Given the description of an element on the screen output the (x, y) to click on. 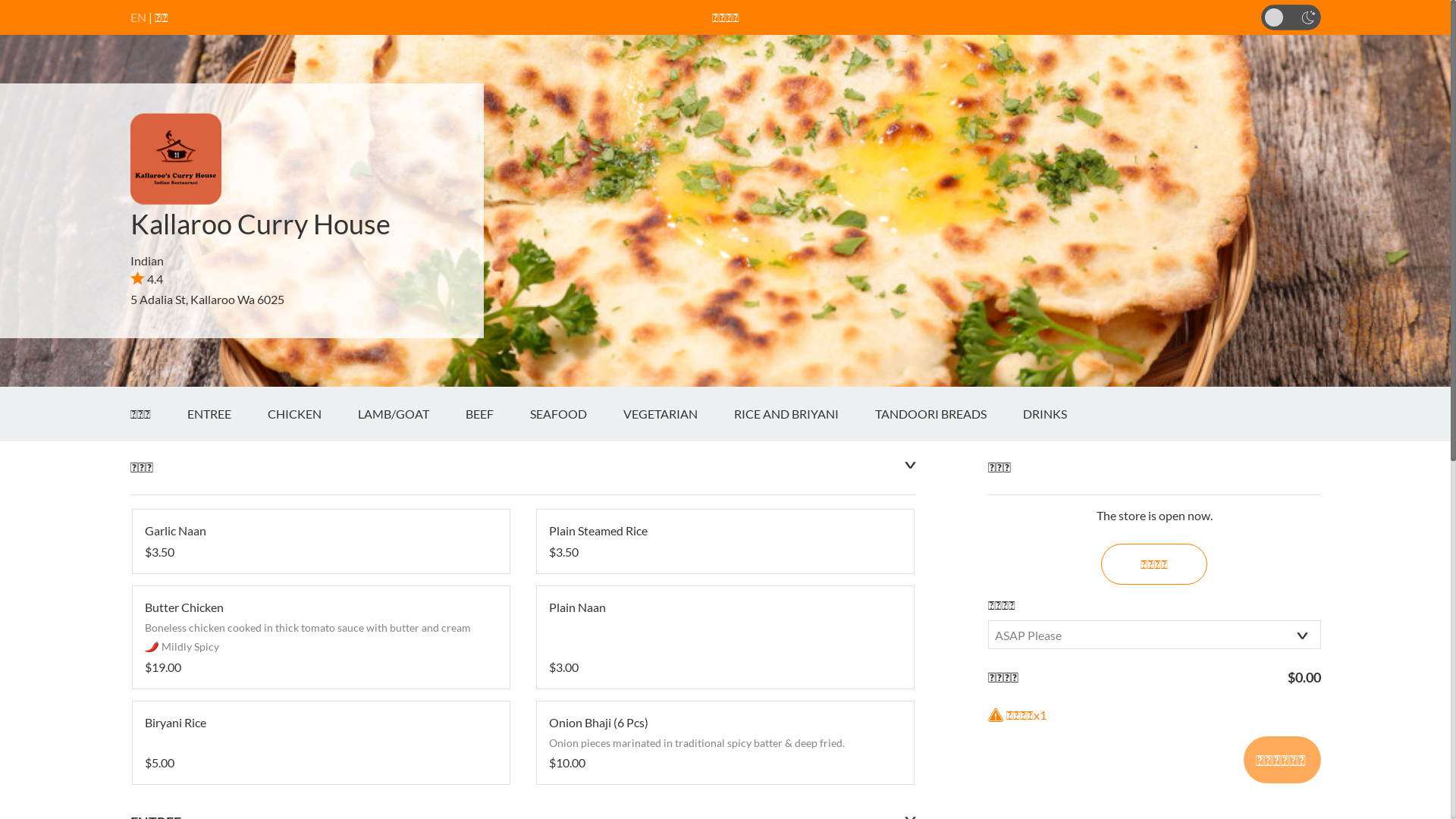
RICE AND BRIYANI Element type: text (804, 413)
SEAFOOD Element type: text (575, 413)
Plain Naan
$3.00 Element type: text (725, 637)
Garlic Naan
$3.50 Element type: text (320, 541)
Biryani Rice
$5.00 Element type: text (320, 742)
Garlic Naan
$3.50 Element type: text (320, 541)
Mildly Spicy Element type: hover (151, 646)
Plain Steamed Rice
$3.50 Element type: text (725, 541)
Plain Steamed Rice
$3.50 Element type: text (725, 541)
ENTREE Element type: text (226, 413)
CHICKEN Element type: text (311, 413)
4.4 Element type: text (146, 278)
EN Element type: text (138, 16)
LAMB/GOAT Element type: text (411, 413)
VEGETARIAN Element type: text (678, 413)
BEEF Element type: text (497, 413)
DRINKS Element type: text (1062, 413)
Plain Naan
$3.00 Element type: text (725, 637)
Biryani Rice
$5.00 Element type: text (320, 742)
TANDOORI BREADS Element type: text (948, 413)
Kallaroo Curry House Element type: text (260, 223)
